Given the description of an element on the screen output the (x, y) to click on. 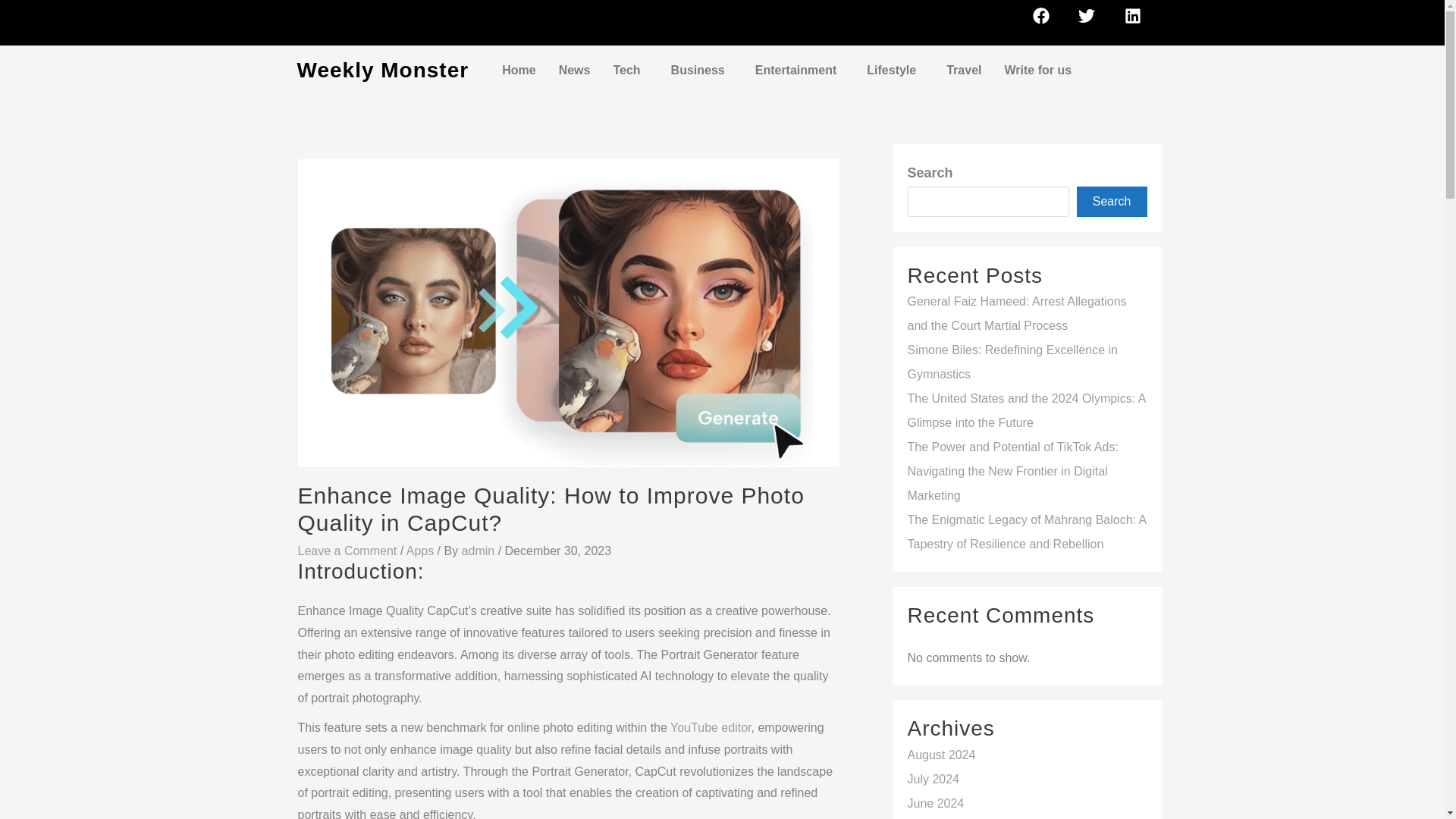
Home (518, 70)
View all posts by admin (479, 550)
Tech (630, 70)
Lifestyle (895, 70)
Entertainment (800, 70)
Business (701, 70)
News (574, 70)
Weekly Monster (382, 69)
Travel (963, 70)
